Given the description of an element on the screen output the (x, y) to click on. 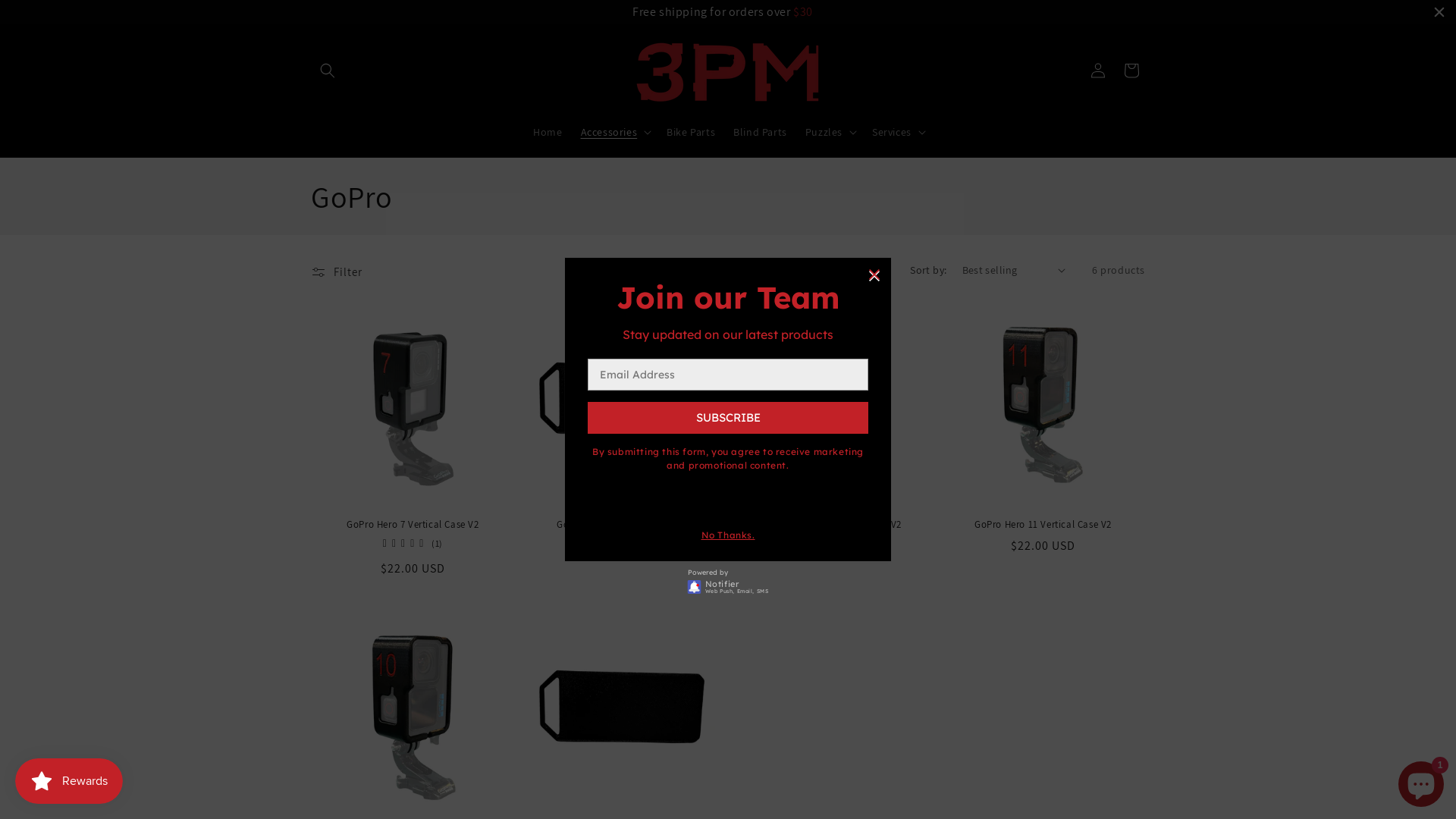
Smile.io Rewards Program Launcher Element type: hover (68, 780)
No Thanks. Element type: text (727, 534)
Log in Element type: text (1097, 70)
GoPro Hero 9 Vertical Case V2 Element type: text (622, 524)
Blind Parts Element type: text (760, 131)
GoPro Hero 7 Vertical Case V2 Element type: text (412, 524)
GoPro Hero 11 Vertical Case V2 Element type: text (1042, 524)
Cart Element type: text (1131, 70)
SUBSCRIBE Element type: text (727, 417)
GoPro Hero 12 Vertical Case V2 Element type: text (832, 524)
Home Element type: text (547, 131)
Bike Parts Element type: text (690, 131)
Shopify online store chat Element type: hover (1420, 780)
